Given the description of an element on the screen output the (x, y) to click on. 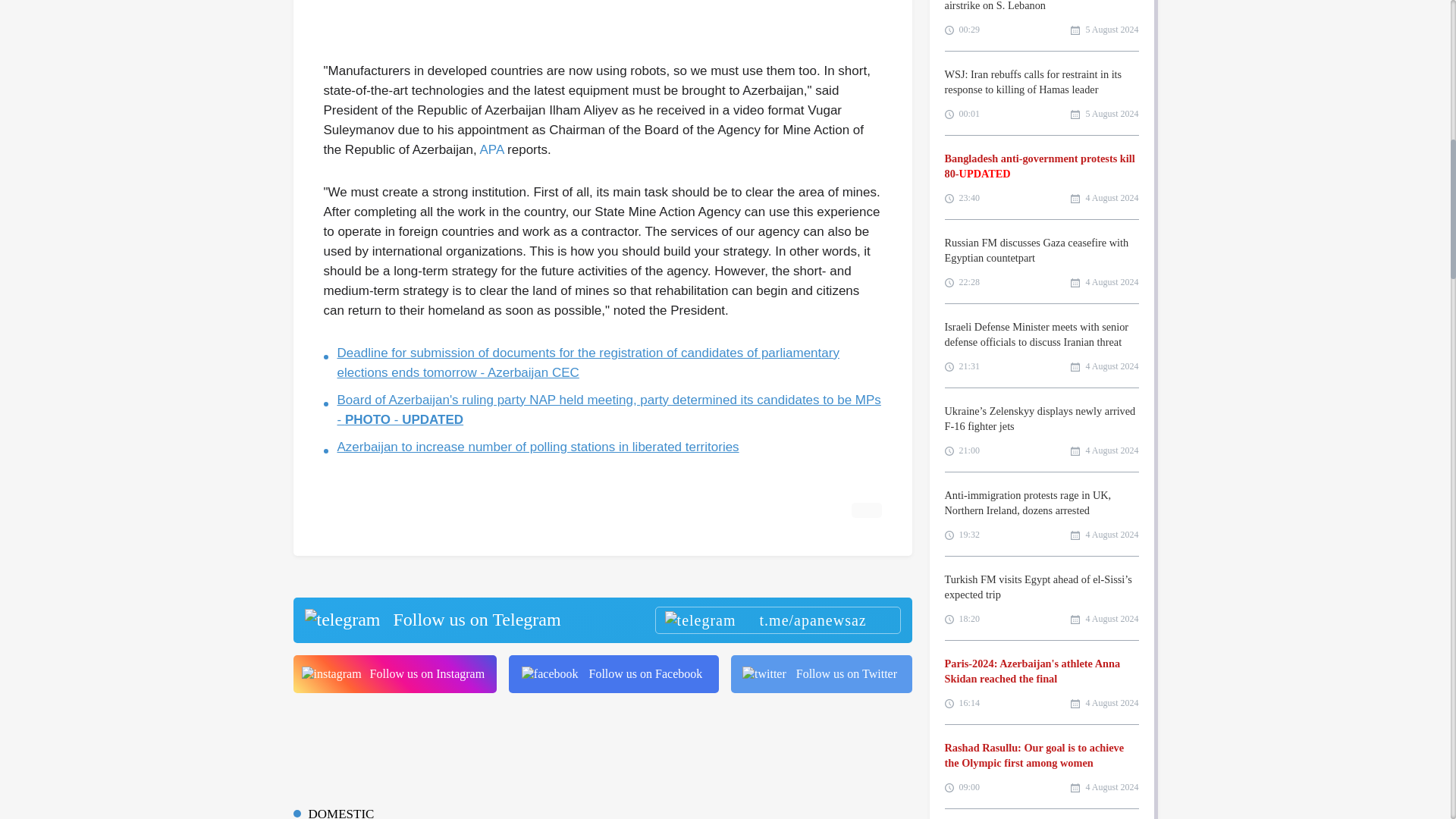
Follow us on Facebook (613, 673)
Follow us on Instagram (394, 673)
Follow us on Telegram (601, 619)
Follow us on Twitter (821, 673)
